Given the description of an element on the screen output the (x, y) to click on. 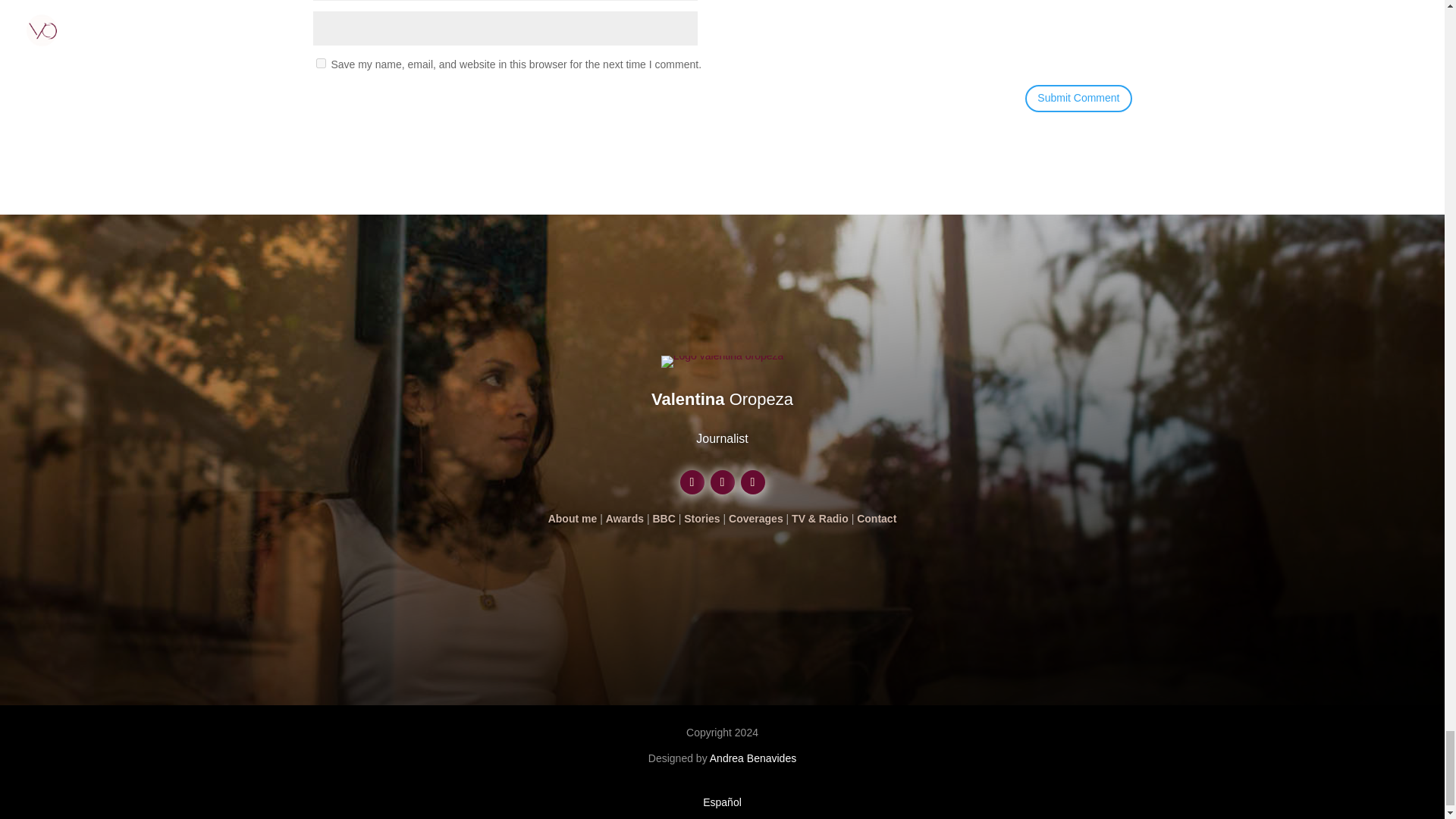
Valentina Oropeza (721, 398)
BBC (663, 518)
Coverages (756, 518)
Follow on X (691, 482)
Follow on Facebook (751, 482)
Contact (876, 518)
Submit Comment (1078, 98)
Stories (701, 518)
Follow on Instagram (721, 482)
yes (319, 62)
Submit Comment (1078, 98)
About me (572, 518)
LogoValentinaOropeza-claro (722, 361)
Awards (624, 518)
